Given the description of an element on the screen output the (x, y) to click on. 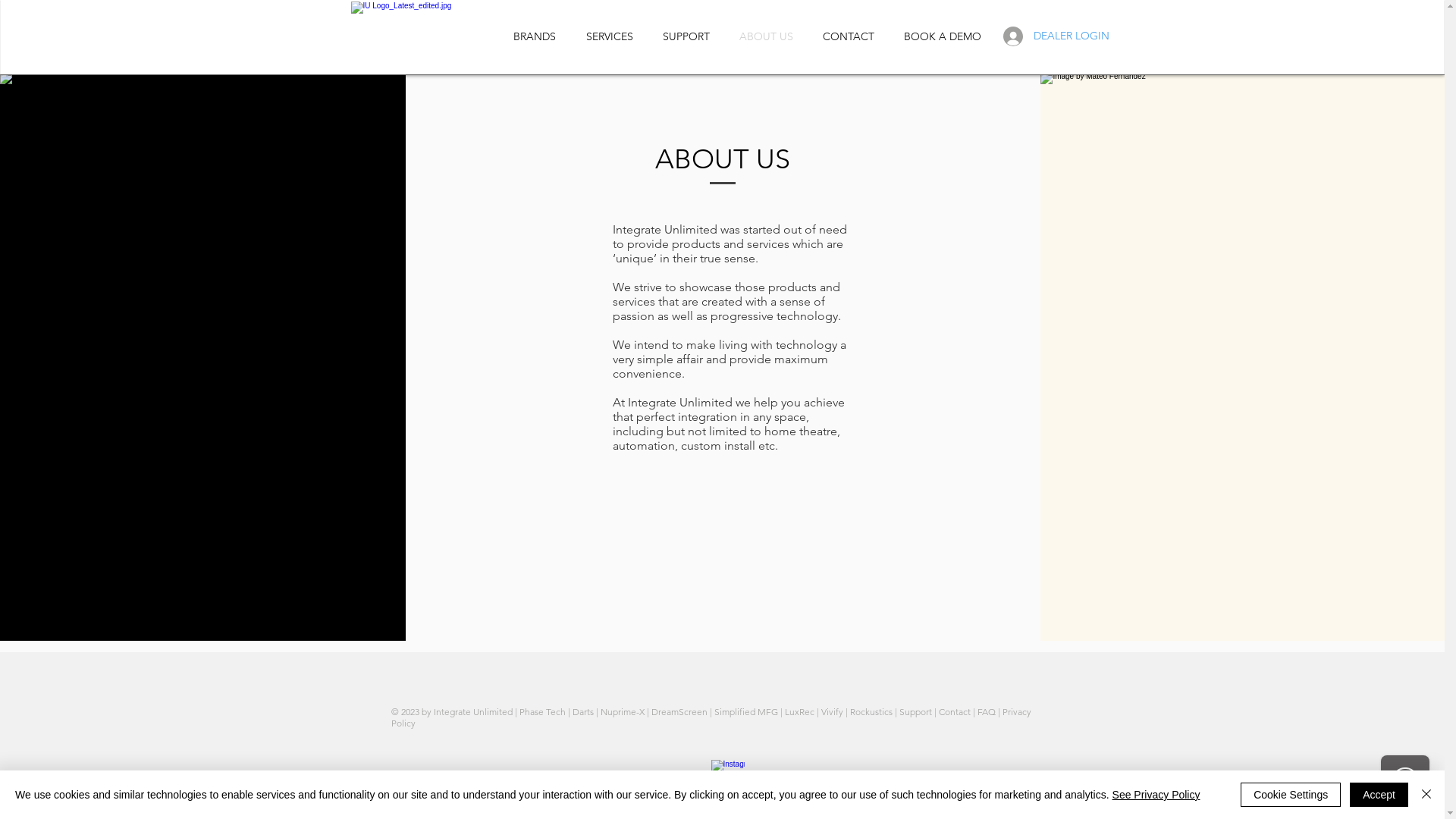
SUPPORT Element type: text (682, 35)
DreamScreen Element type: text (678, 711)
Cookie Settings Element type: text (1290, 794)
FAQ Element type: text (985, 711)
DEALER LOGIN Element type: text (1023, 35)
CONTACT Element type: text (843, 35)
SERVICES Element type: text (605, 35)
Privacy Policy Element type: text (711, 717)
Nuprime-X Element type: text (622, 711)
See Privacy Policy Element type: text (1156, 794)
LuxRec Element type: text (798, 711)
Support Element type: text (915, 711)
Darts Element type: text (582, 711)
BOOK A DEMO Element type: text (938, 35)
ABOUT US Element type: text (761, 35)
Accept Element type: text (1378, 794)
Rockustics |  Element type: text (873, 711)
Simplified MFG Element type: text (746, 711)
Contact Element type: text (954, 711)
Phase Tech Element type: text (541, 711)
Vivify Element type: text (831, 711)
Integrate Unlimited Element type: text (470, 711)
